Given the description of an element on the screen output the (x, y) to click on. 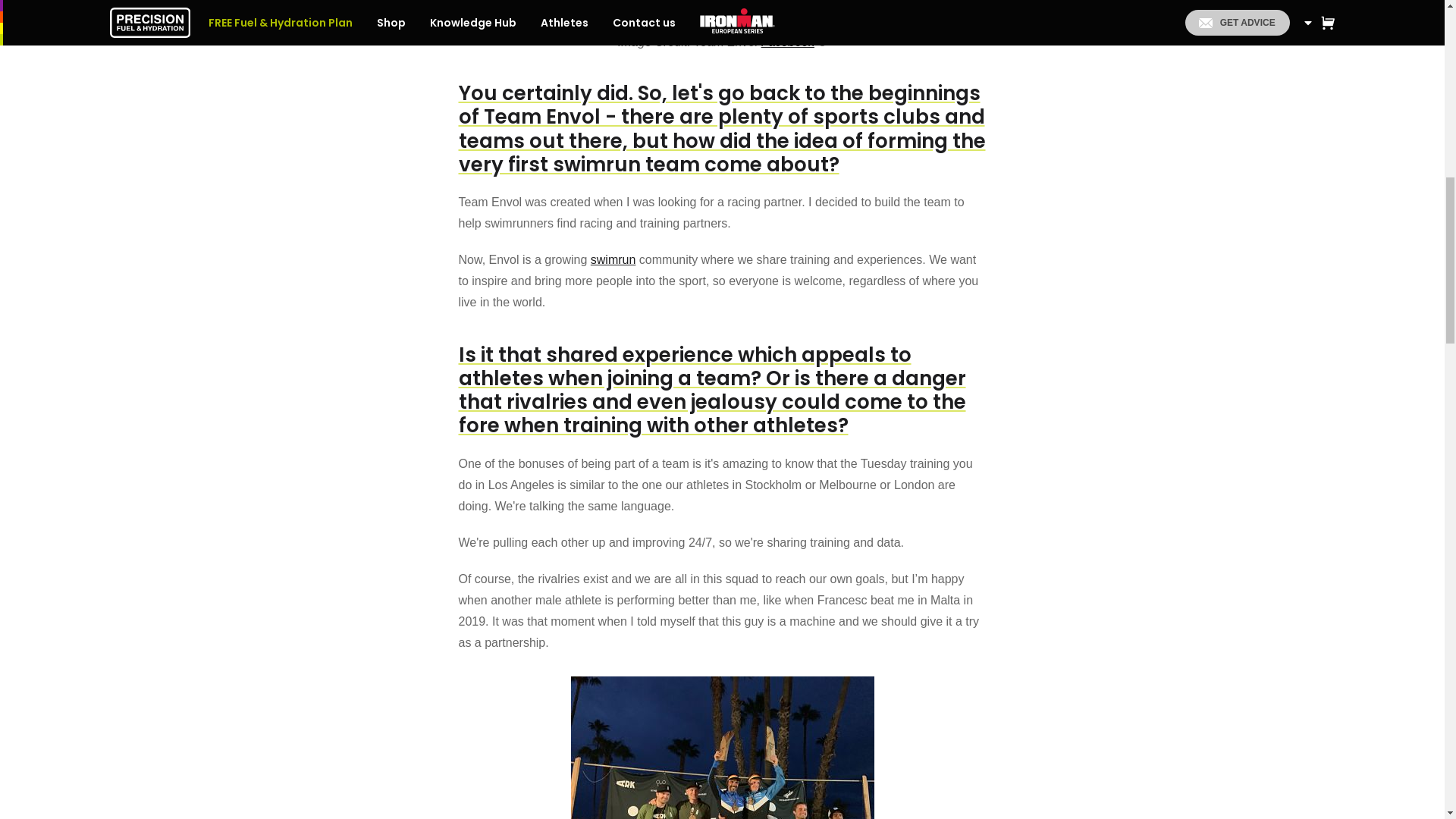
swimrun (613, 259)
Team Envol Facebook (787, 42)
Facebook (787, 42)
Thinking about doing a Swimrun race? Read this (613, 259)
